Given the description of an element on the screen output the (x, y) to click on. 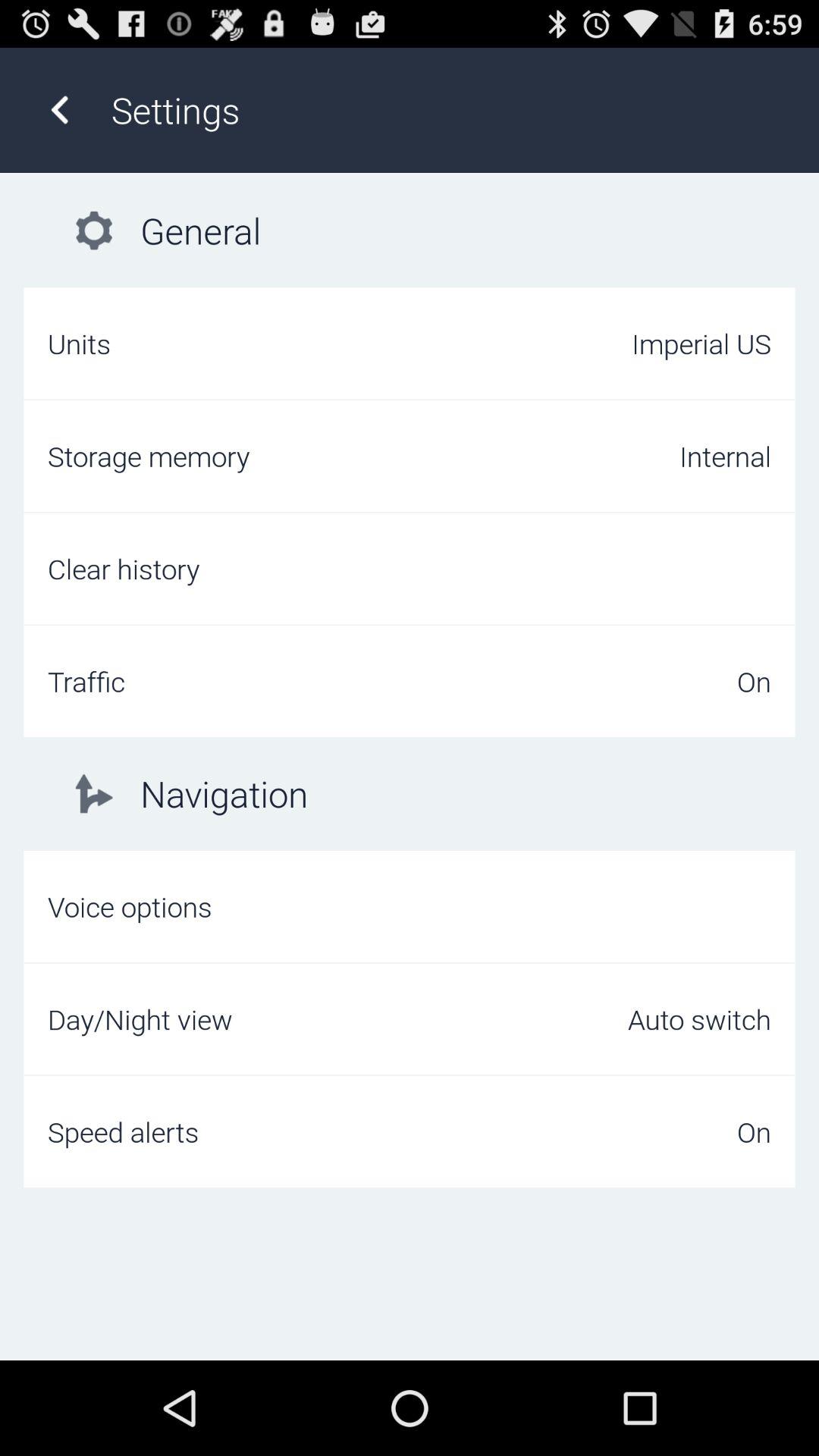
open settings (449, 109)
